Given the description of an element on the screen output the (x, y) to click on. 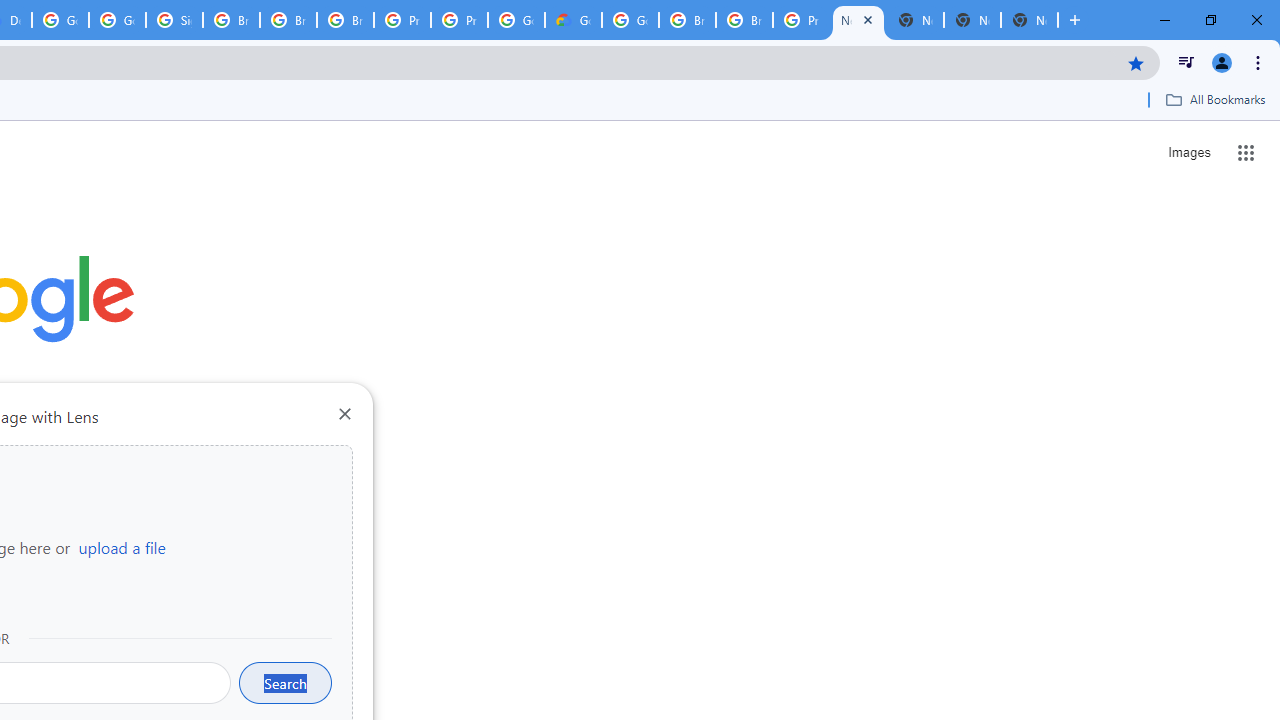
Search for Images  (1188, 152)
Browse Chrome as a guest - Computer - Google Chrome Help (231, 20)
Search (285, 682)
Control your music, videos, and more (1185, 62)
Browse Chrome as a guest - Computer - Google Chrome Help (744, 20)
Google Cloud Estimate Summary (573, 20)
New Tab (1029, 20)
Browse Chrome as a guest - Computer - Google Chrome Help (288, 20)
Google Cloud Platform (516, 20)
